Given the description of an element on the screen output the (x, y) to click on. 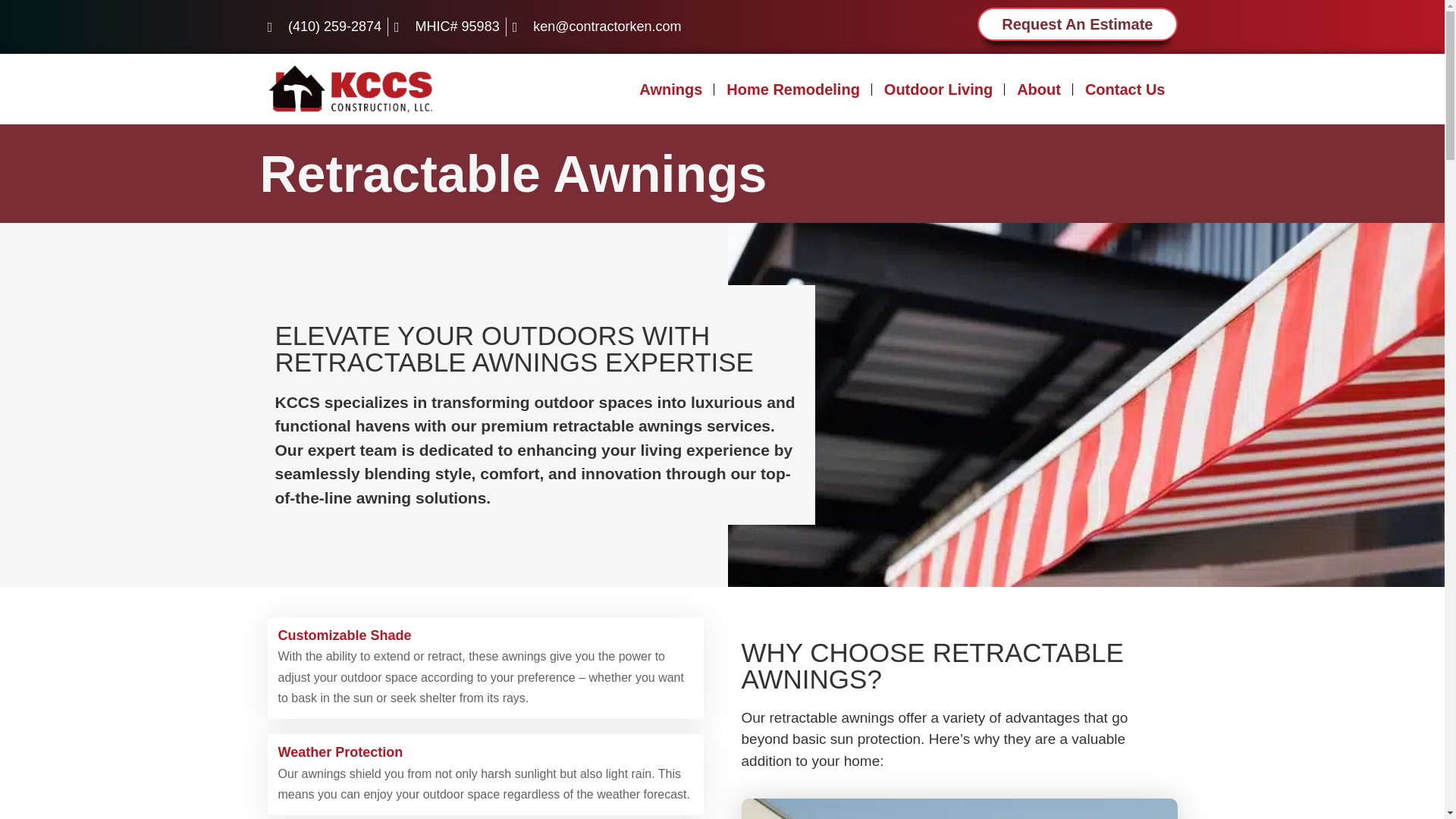
Outdoor Living (937, 88)
Request An Estimate (1076, 23)
Retractable Awnings 1 (959, 808)
Home Remodeling (793, 88)
Awnings (670, 88)
About (1038, 88)
Contact Us (1125, 88)
